Given the description of an element on the screen output the (x, y) to click on. 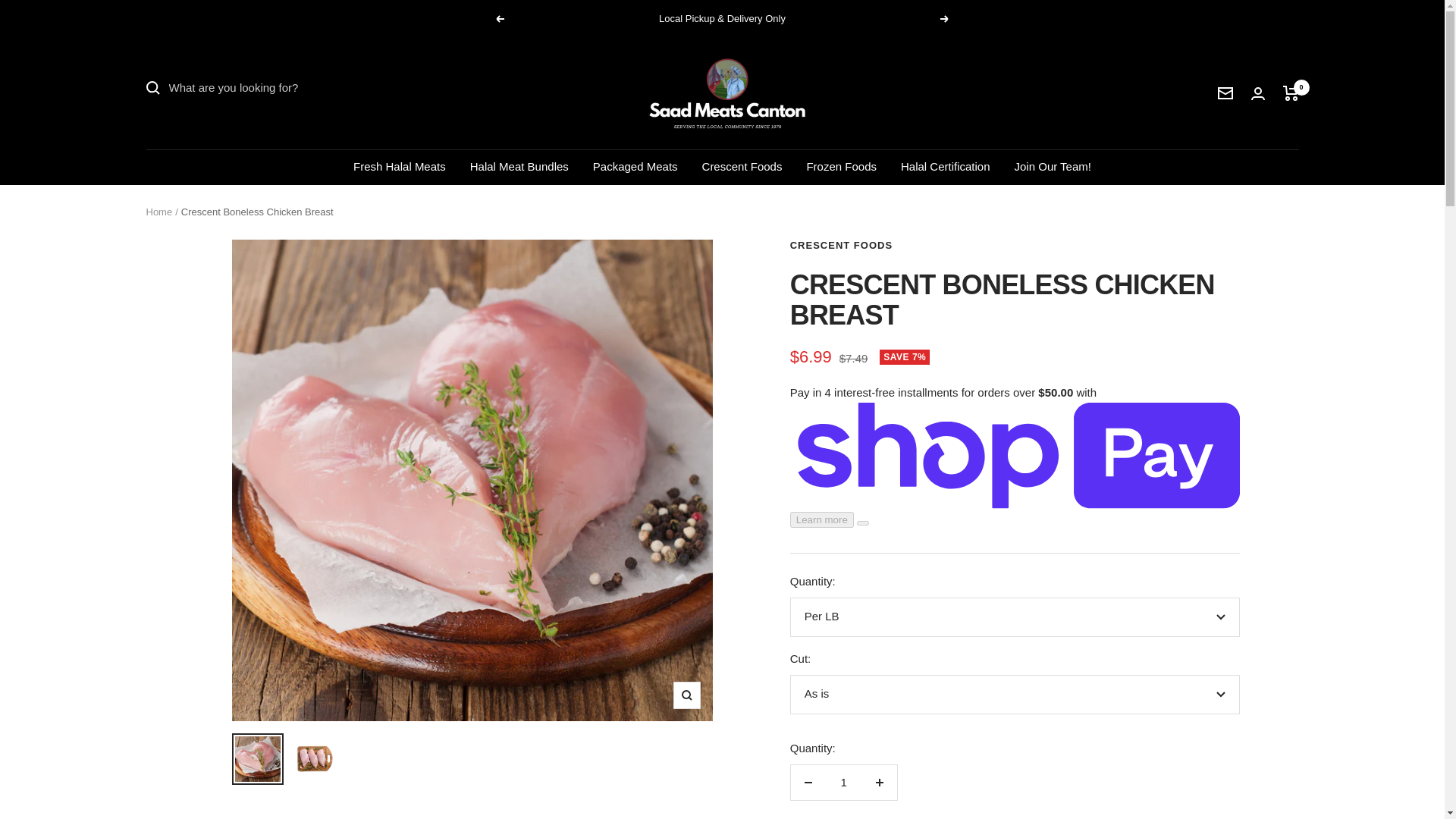
10lbs (1015, 690)
0 (1290, 92)
Halal Certification (945, 166)
Previous (499, 18)
Cleaned (1015, 799)
Per LB (1015, 617)
As is (1015, 736)
Join Our Team! (1052, 166)
Fresh Halal Meats (399, 166)
Frozen Foods (841, 166)
